Given the description of an element on the screen output the (x, y) to click on. 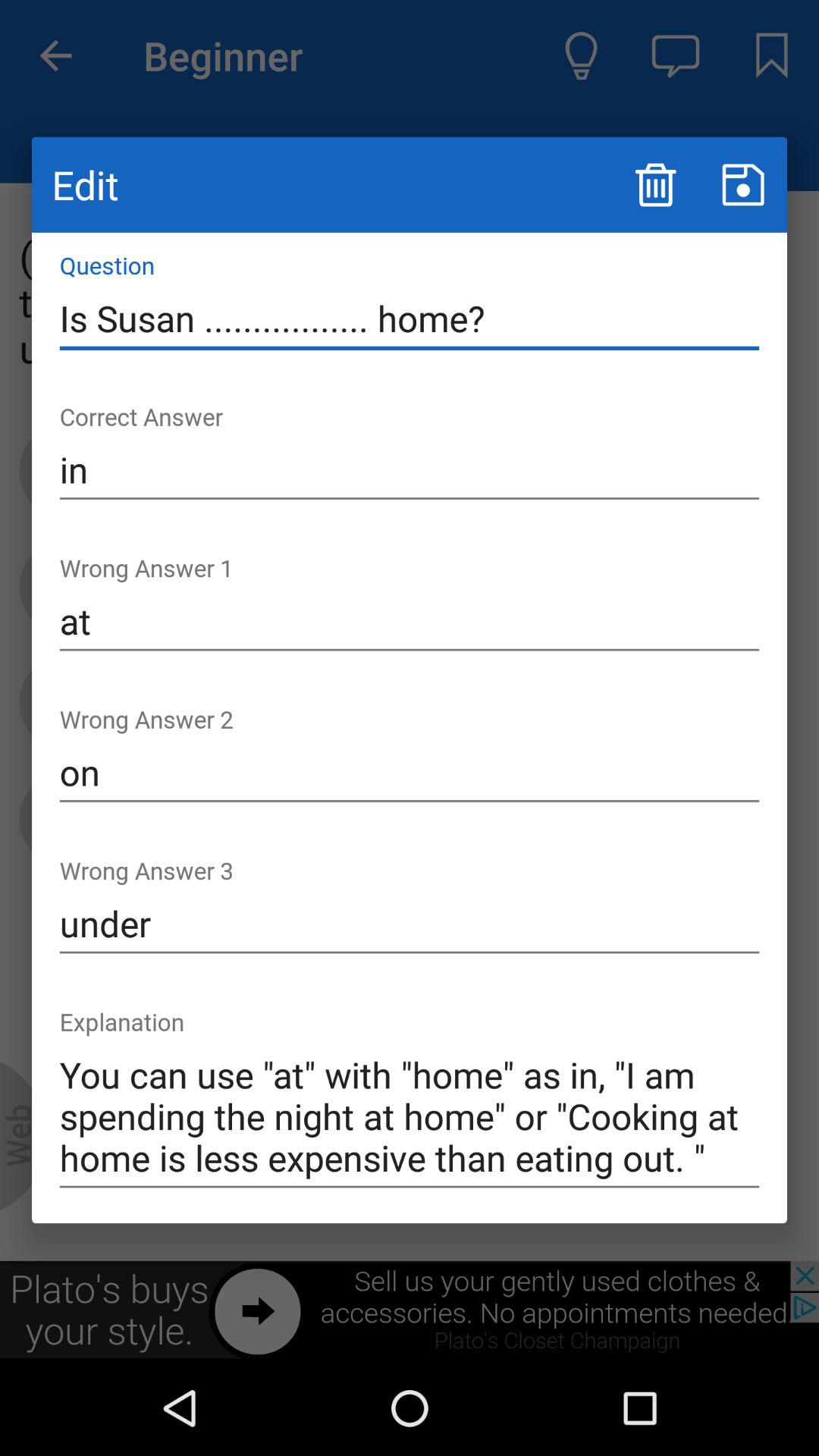
jump to the on item (409, 772)
